Given the description of an element on the screen output the (x, y) to click on. 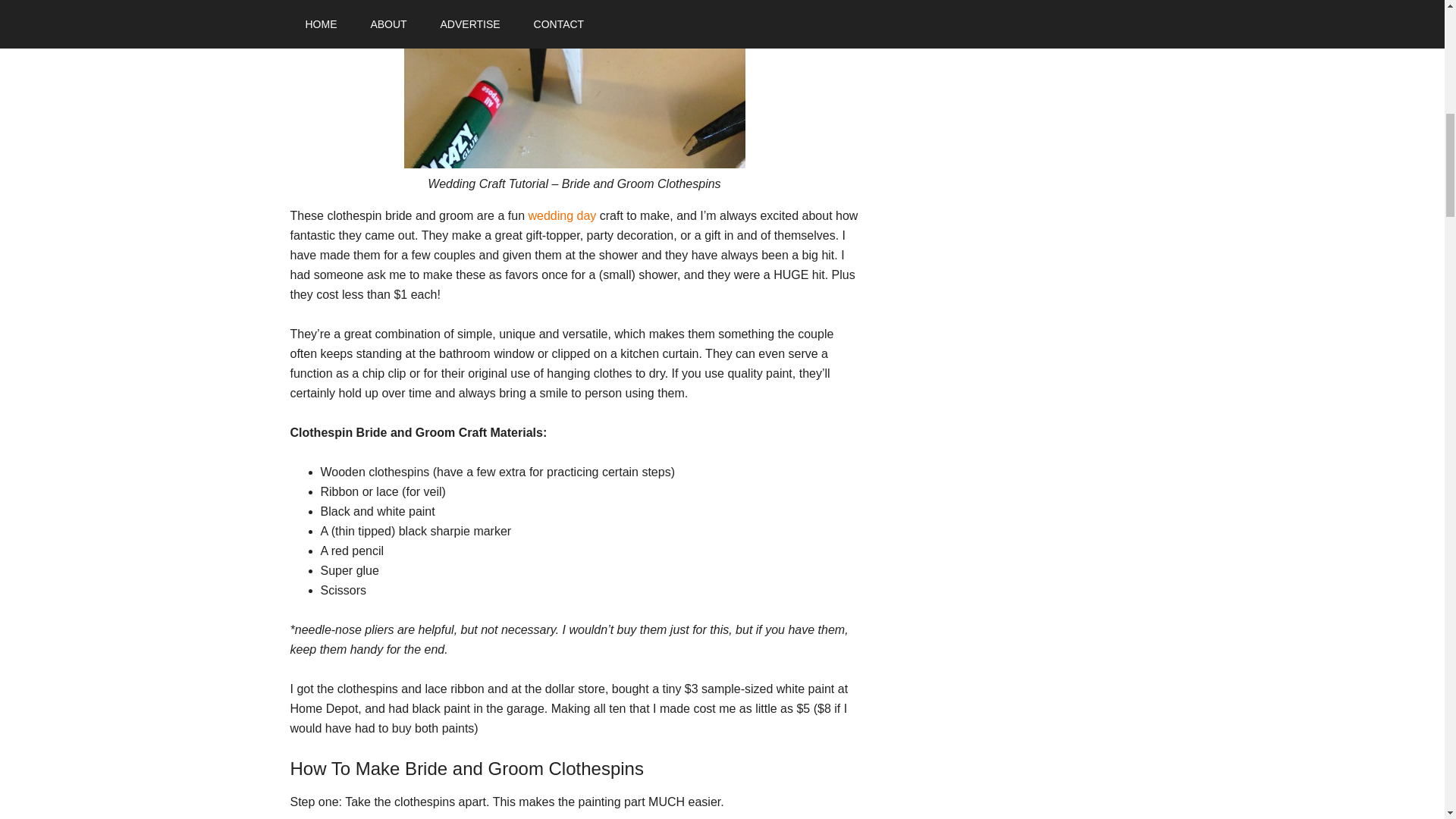
wedding day (561, 215)
